Given the description of an element on the screen output the (x, y) to click on. 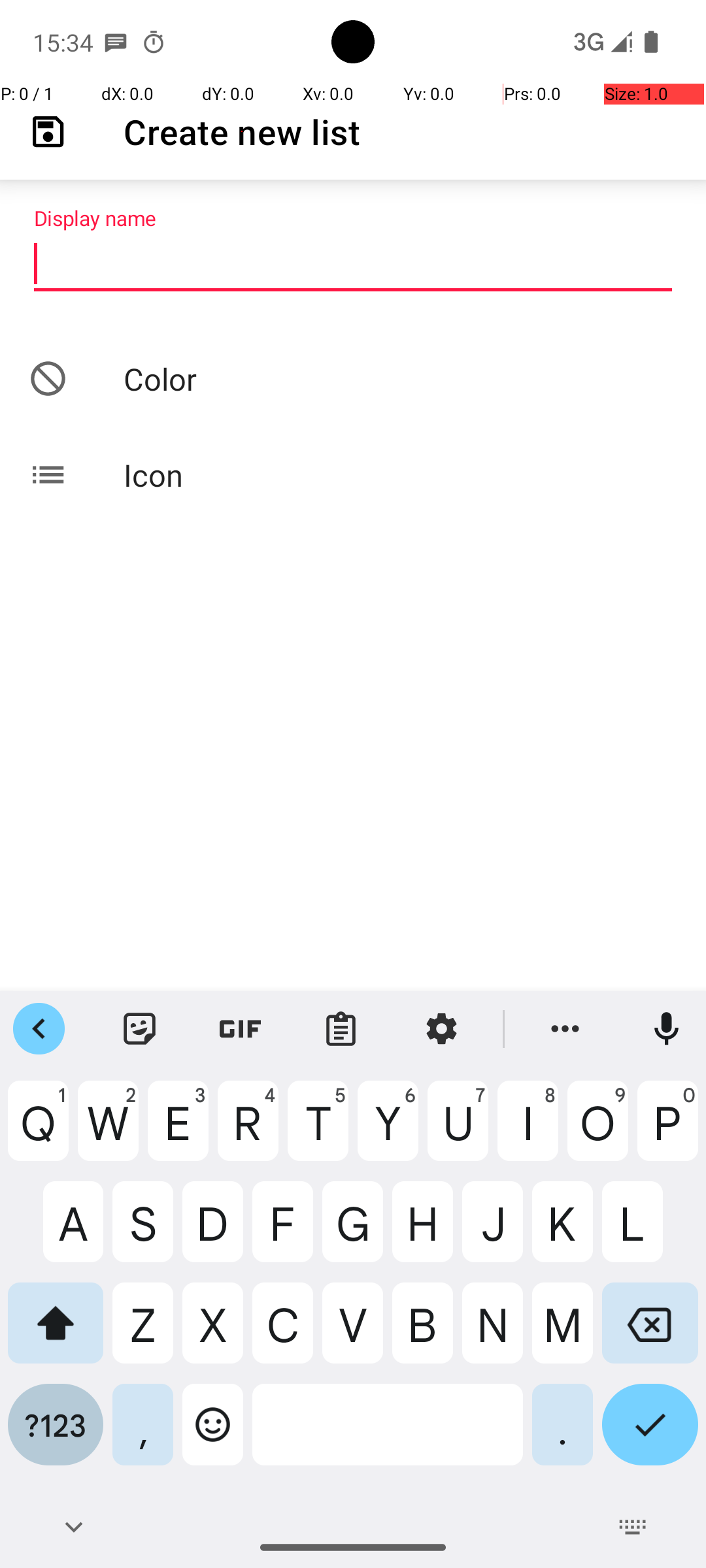
Create new list Element type: android.widget.TextView (241, 131)
Display name Element type: android.widget.EditText (352, 264)
Icon Element type: android.widget.TextView (352, 474)
